Given the description of an element on the screen output the (x, y) to click on. 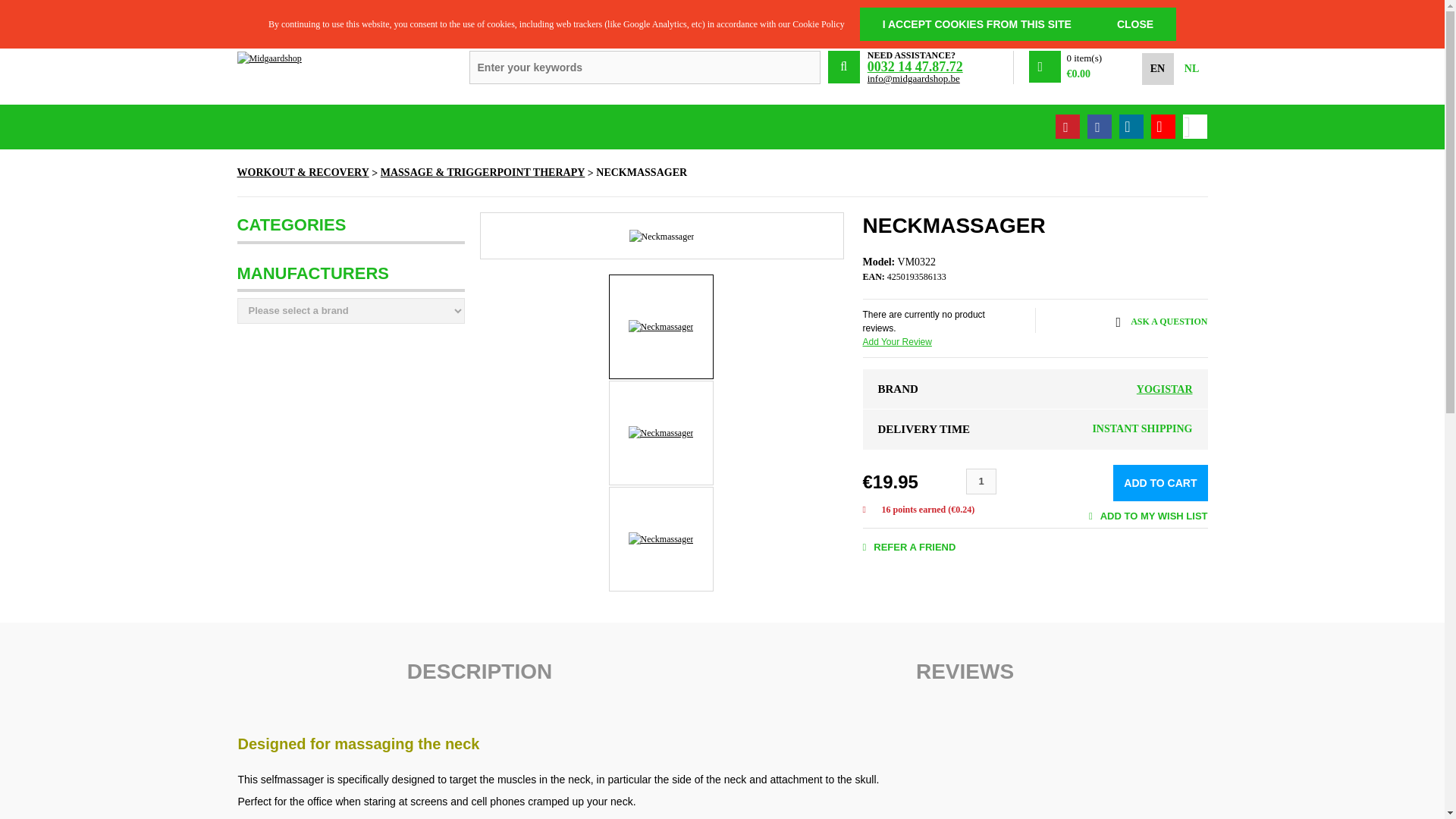
Yogistar (1164, 389)
Neckmassager (660, 538)
Neckmassager (661, 432)
Neckmassager (661, 326)
Neckmassager (661, 539)
Neckmassager (660, 432)
Neckmassager (660, 326)
1 (980, 481)
Neckmassager (661, 236)
